Given the description of an element on the screen output the (x, y) to click on. 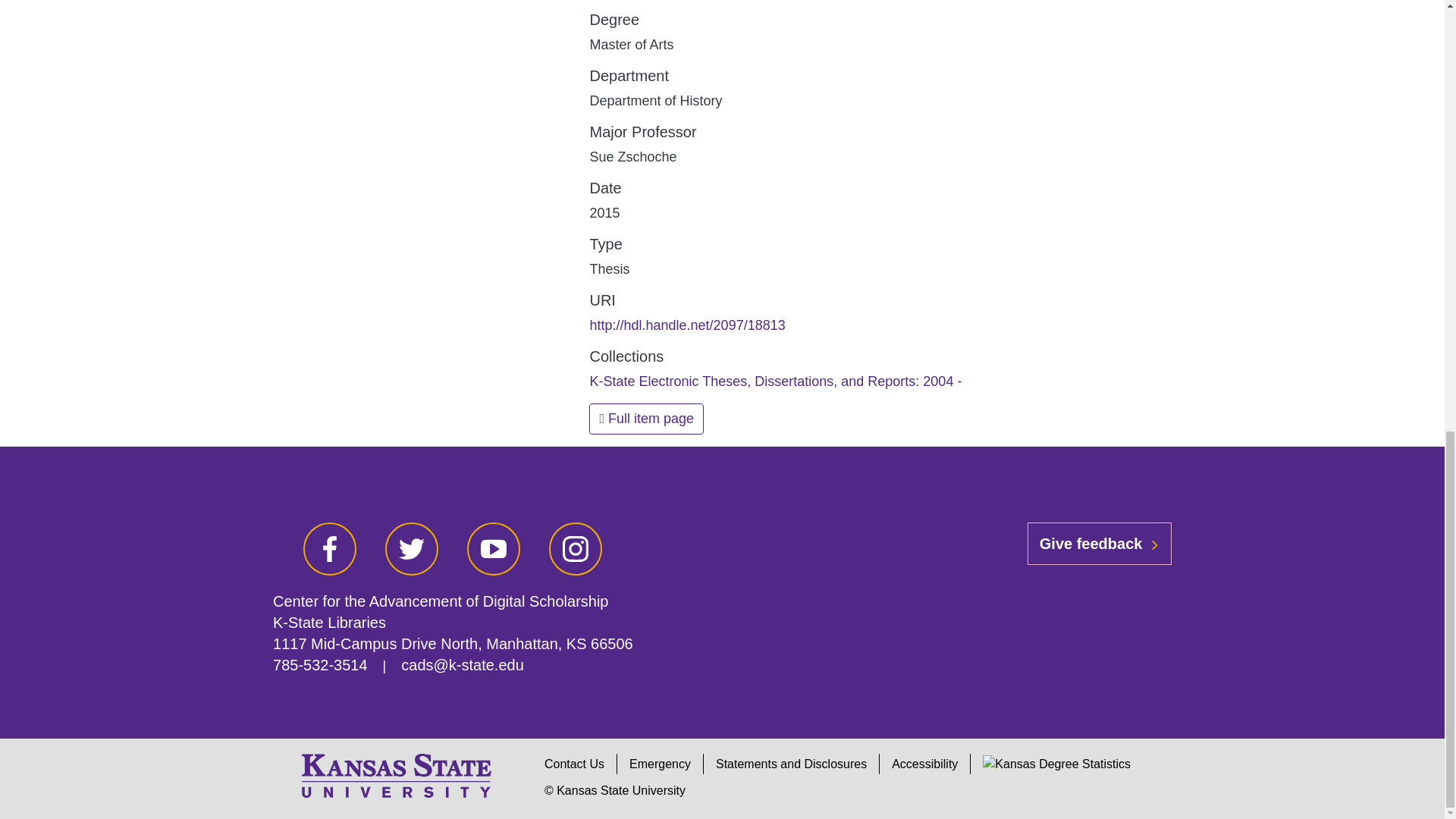
chevron (1154, 544)
785-532-3514 (320, 664)
Full item page (646, 418)
